Given the description of an element on the screen output the (x, y) to click on. 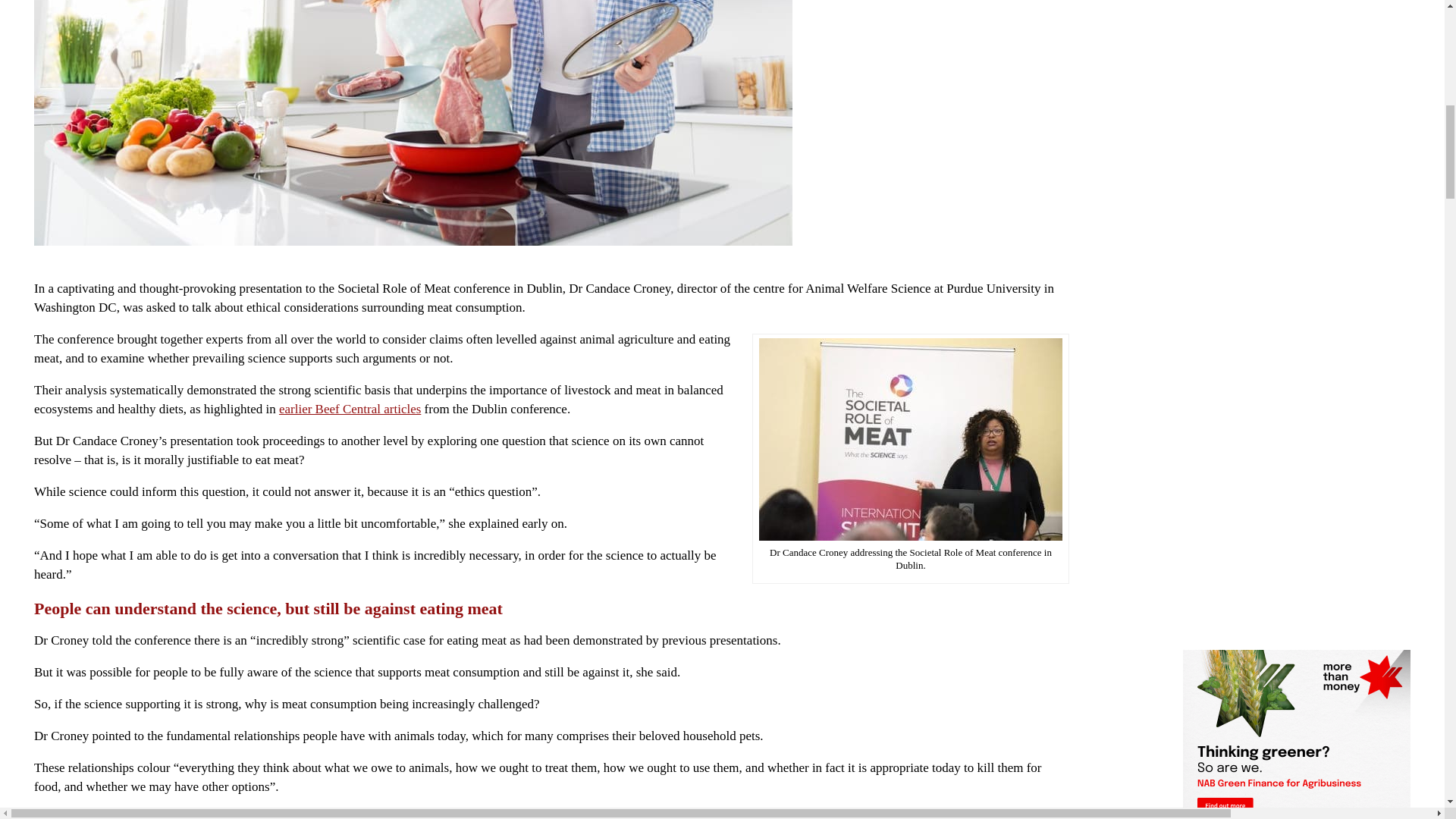
3rd party ad content (1296, 96)
3rd party ad content (1296, 187)
3rd party ad content (1296, 539)
3rd party ad content (1296, 21)
3rd party ad content (1296, 334)
3rd party ad content (1296, 734)
